Given the description of an element on the screen output the (x, y) to click on. 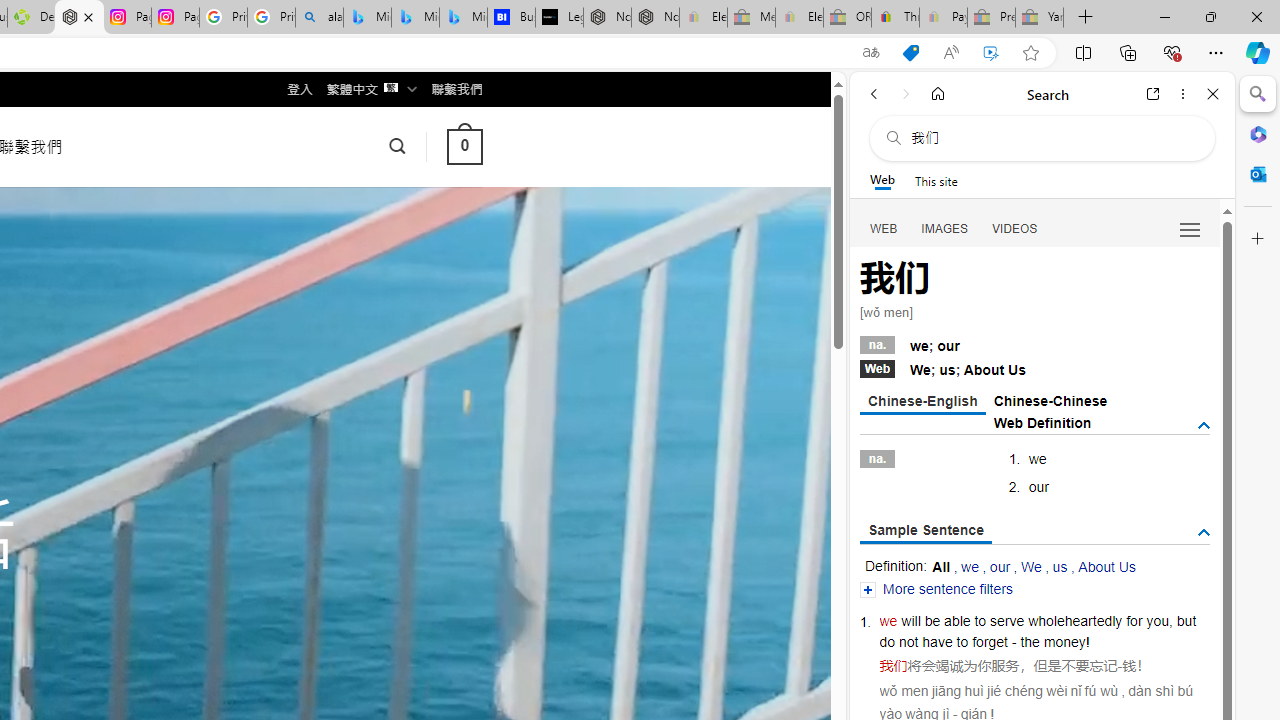
Web Definition (1042, 422)
you (1157, 620)
Yard, Garden & Outdoor Living - Sleeping (1039, 17)
Us (1017, 370)
